Given the description of an element on the screen output the (x, y) to click on. 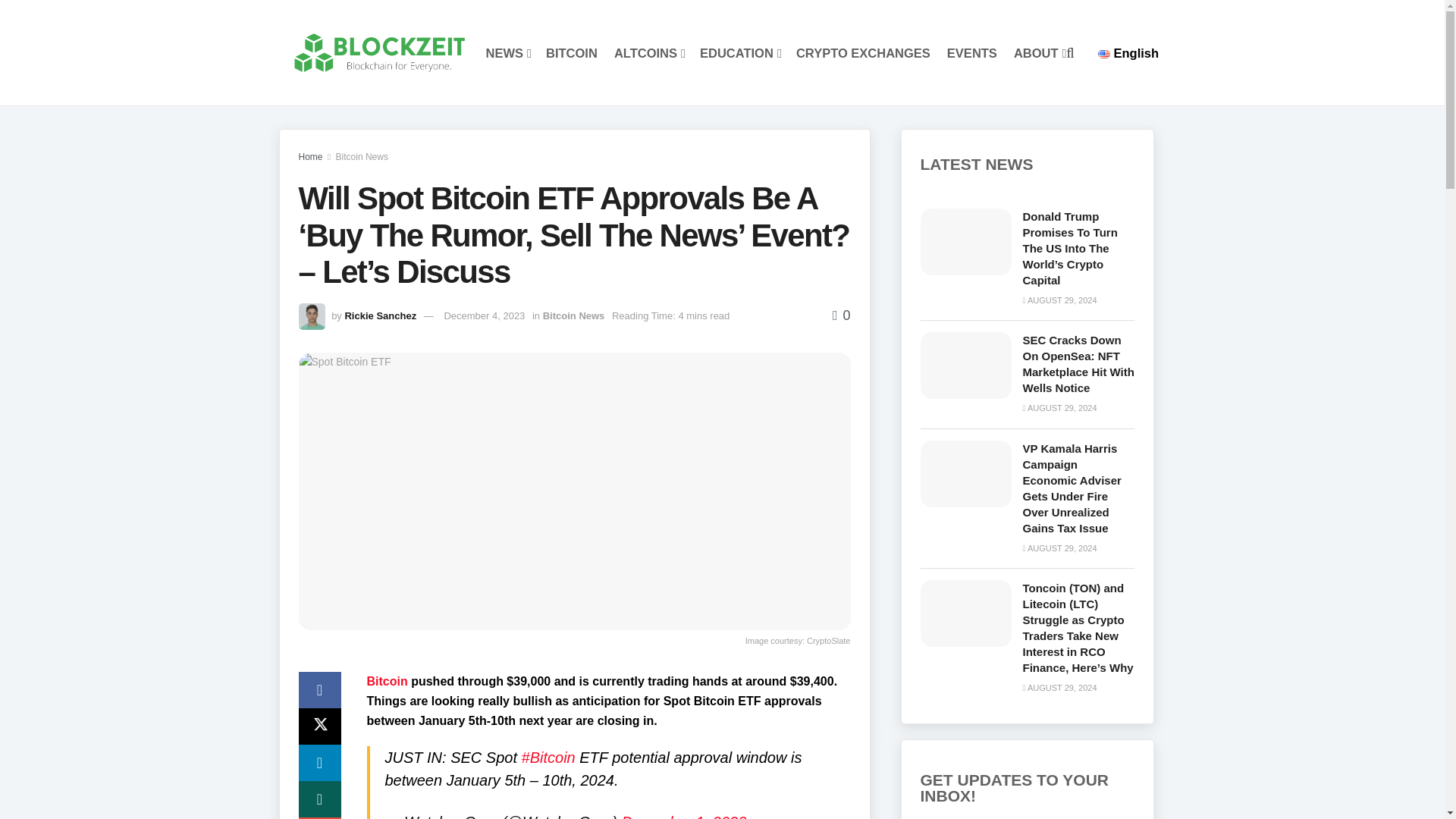
EDUCATION (739, 52)
CRYPTO EXCHANGES (863, 52)
ABOUT (1038, 52)
EVENTS (972, 52)
English (1127, 52)
BITCOIN (571, 52)
NEWS (506, 52)
ALTCOINS (648, 52)
